Given the description of an element on the screen output the (x, y) to click on. 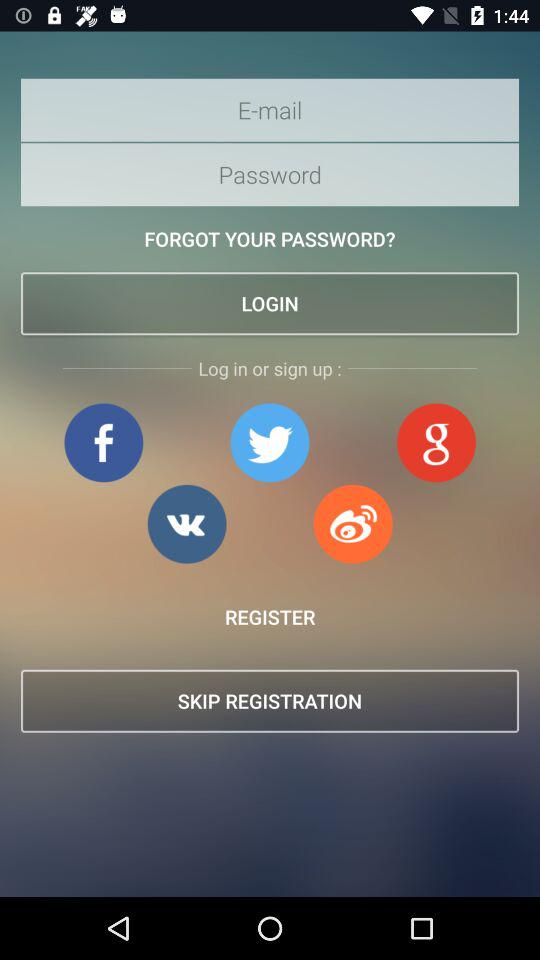
click the item above skip registration item (270, 616)
